Given the description of an element on the screen output the (x, y) to click on. 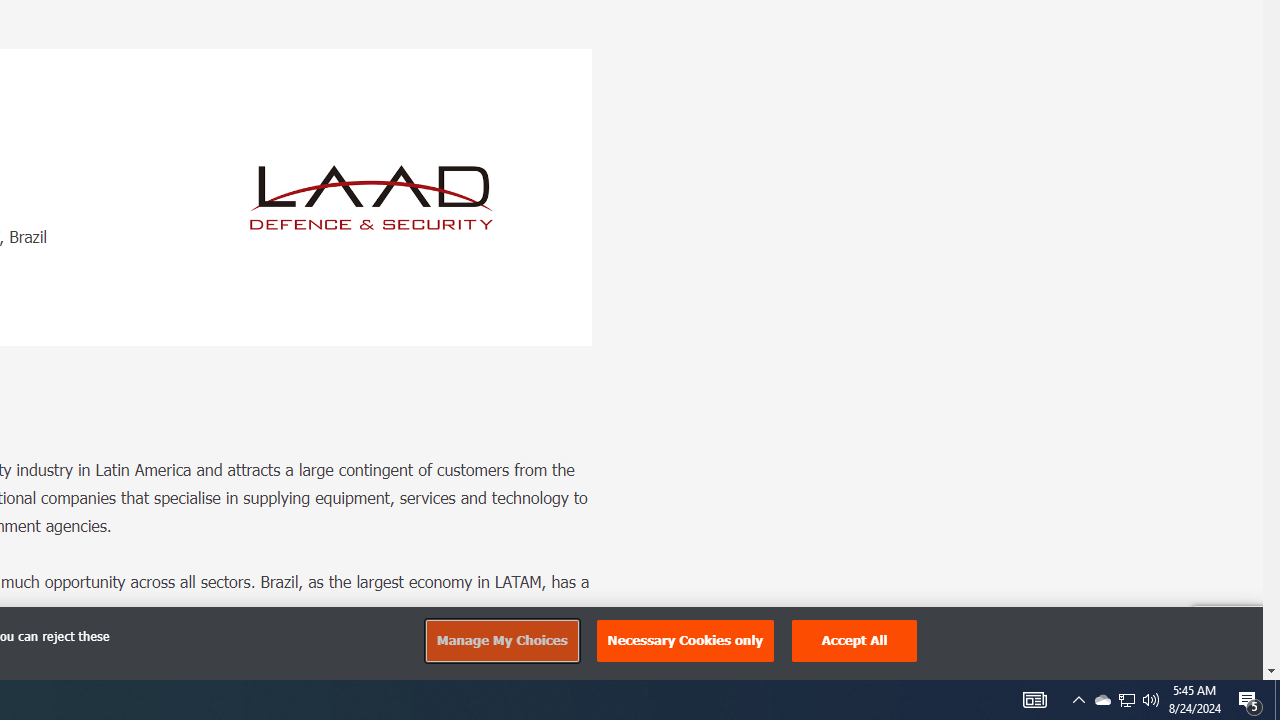
To get missing image descriptions, open the context menu. (371, 197)
Accept All (854, 640)
Necessary Cookies only (685, 640)
Privacy (1212, 657)
Manage My Choices (501, 640)
